Given the description of an element on the screen output the (x, y) to click on. 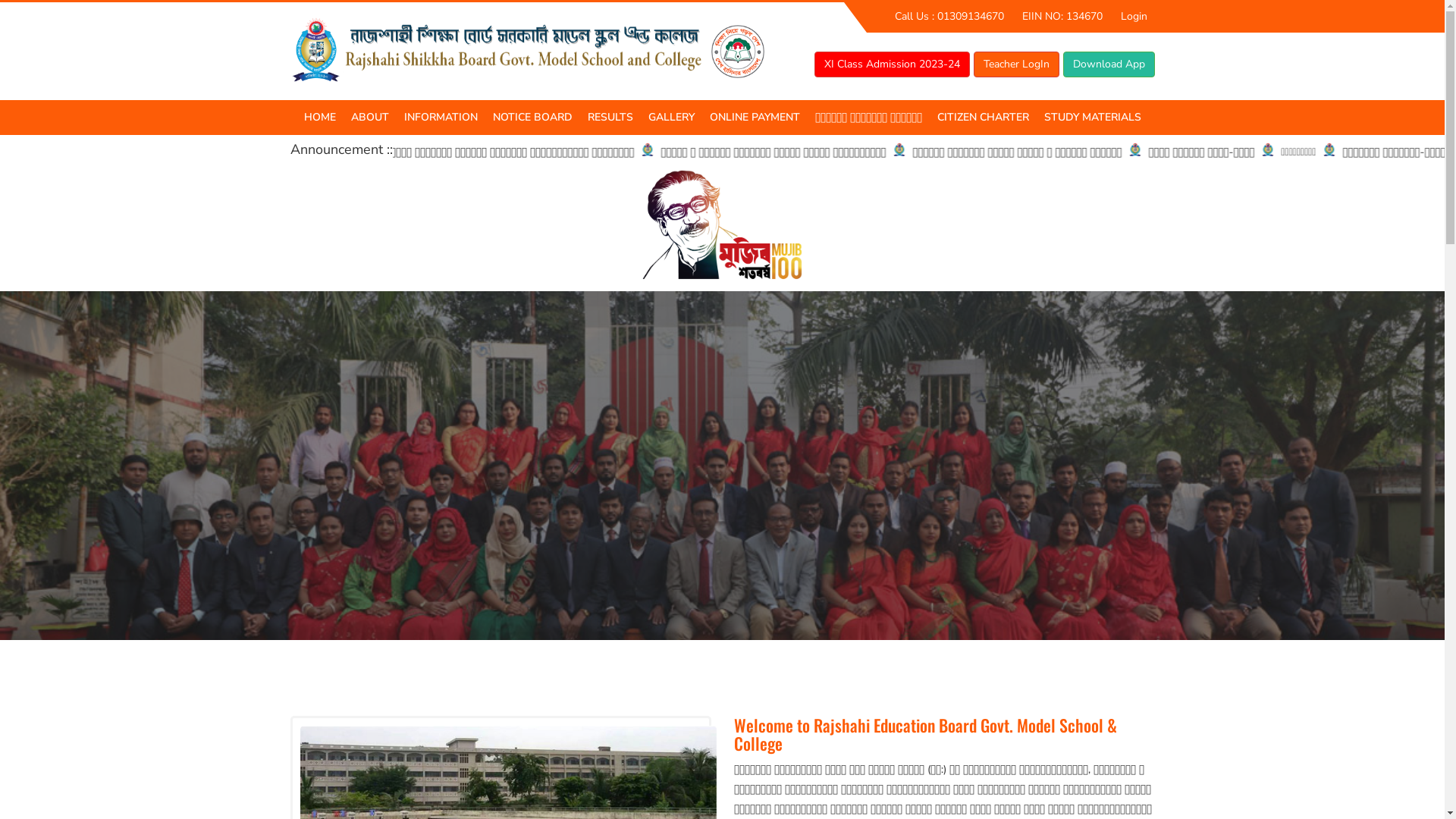
TEACHERS Element type: text (471, 151)
AT A GLANCE Element type: text (418, 151)
INFORMATION Element type: text (439, 117)
NOTICE Element type: text (561, 151)
ABOUT Element type: text (368, 117)
HOME Element type: text (318, 117)
CITIZEN CHARTER Element type: text (982, 117)
Teacher LogIn Element type: text (1016, 64)
ONLINE PAYMENT Element type: text (754, 117)
ACCADAMIC RESULTS (2019) Element type: text (655, 161)
XI Class Admission 2023-24 Element type: text (891, 64)
RESULTS Element type: text (609, 117)
HSC(2023-24) CLASS ROUTINE Element type: text (1111, 161)
NOTICE BOARD Element type: text (532, 117)
ACADEMIC RESULTS (2022) Element type: text (655, 151)
Login Element type: text (1133, 16)
GALLERY Element type: text (670, 117)
Download App Element type: text (1108, 64)
HSC SYLLABUS Element type: text (1111, 151)
STUDY MATERIALS Element type: text (1091, 117)
